Given the description of an element on the screen output the (x, y) to click on. 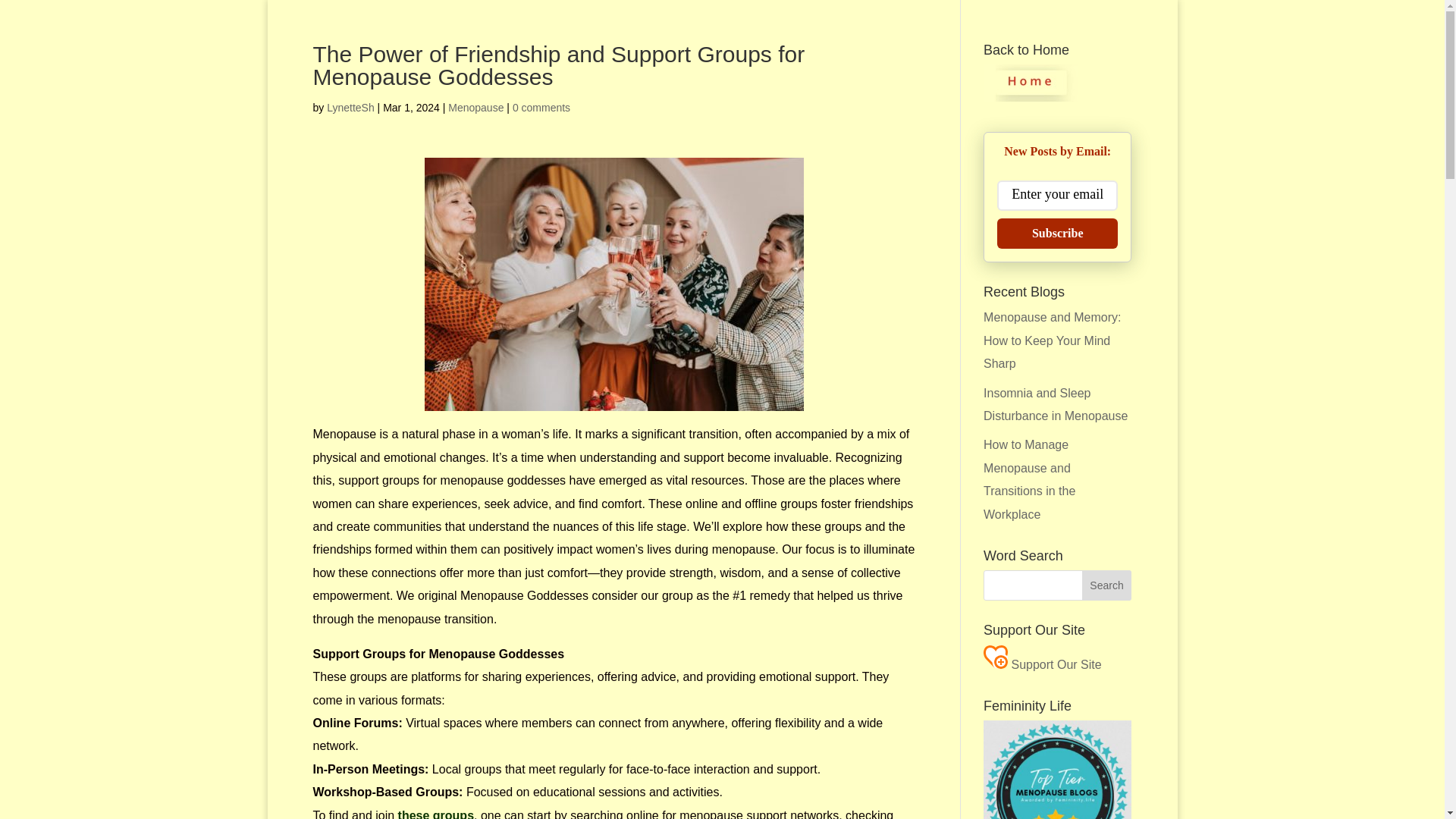
Posts by LynetteSh (350, 107)
Menopause (475, 107)
LynetteSh (350, 107)
these groups (435, 814)
0 comments (541, 107)
Search (1106, 585)
Back to Home (1031, 97)
